Given the description of an element on the screen output the (x, y) to click on. 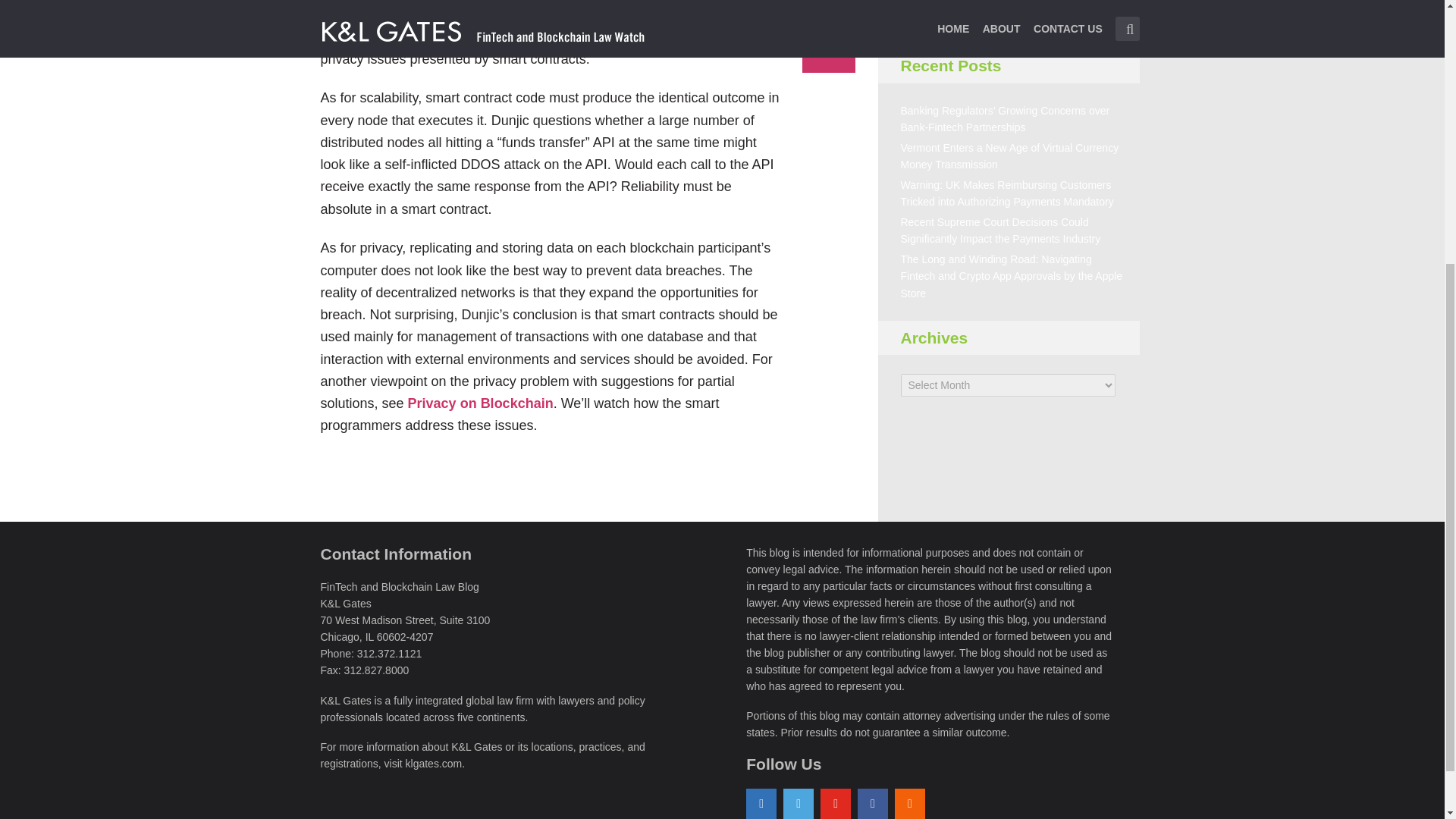
Privacy on Blockchain (480, 403)
Sign up (941, 8)
klgates.com (434, 763)
Sign up (941, 8)
